Given the description of an element on the screen output the (x, y) to click on. 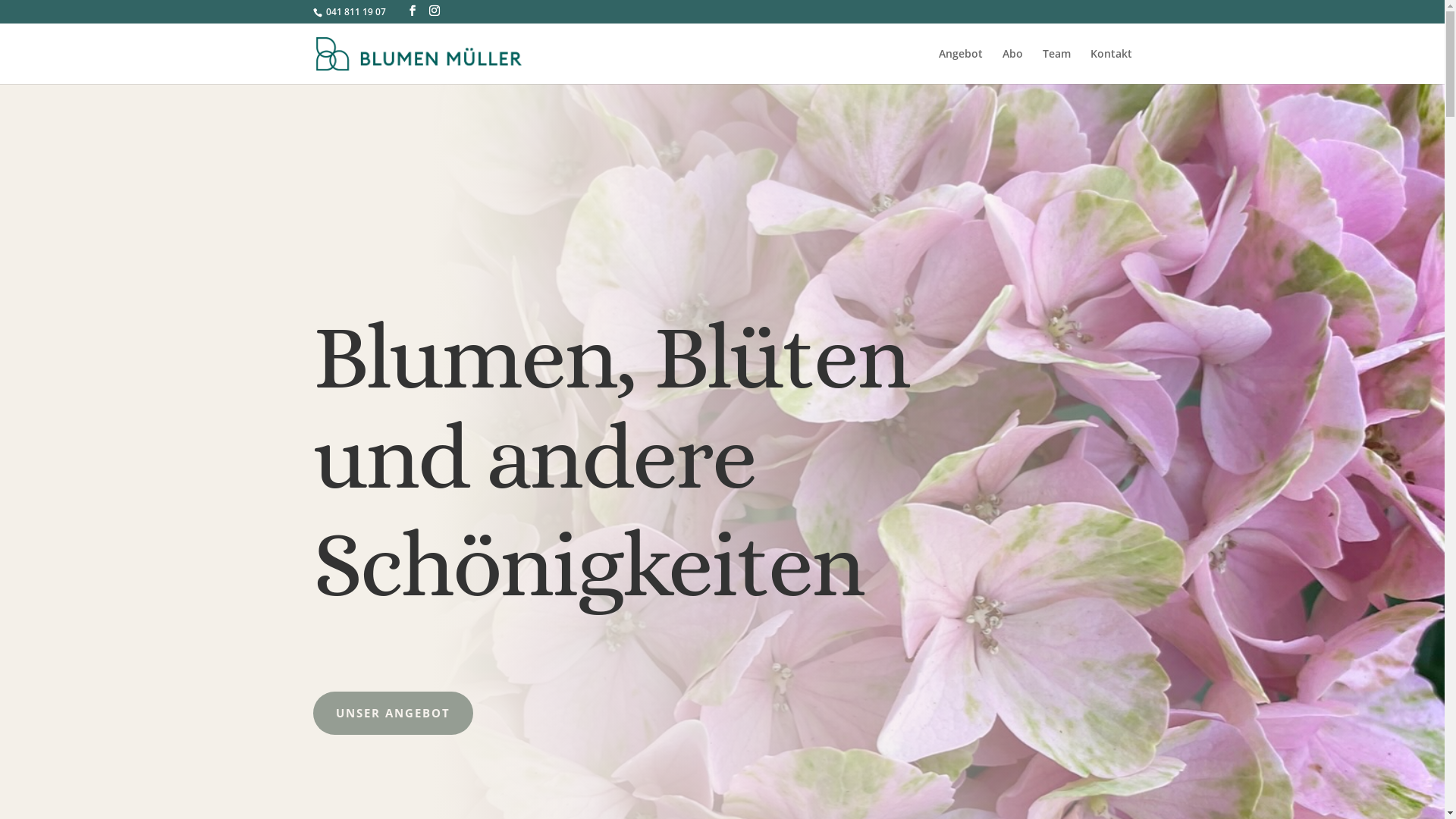
Abo Element type: text (1012, 66)
Kontakt Element type: text (1111, 66)
UNSER ANGEBOT Element type: text (392, 713)
Angebot Element type: text (960, 66)
Team Element type: text (1055, 66)
